Given the description of an element on the screen output the (x, y) to click on. 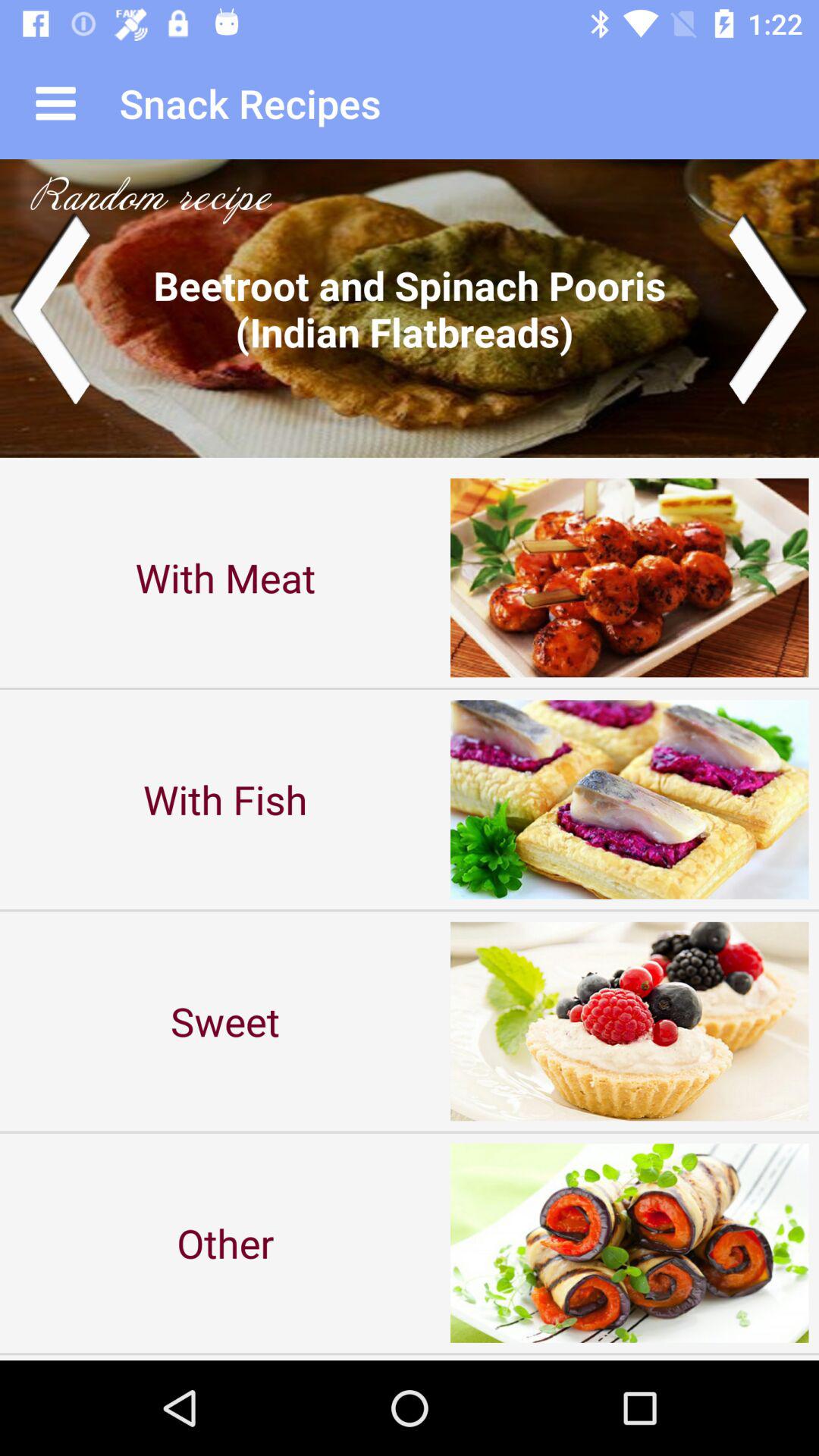
click app to the left of the snack recipes app (55, 103)
